Given the description of an element on the screen output the (x, y) to click on. 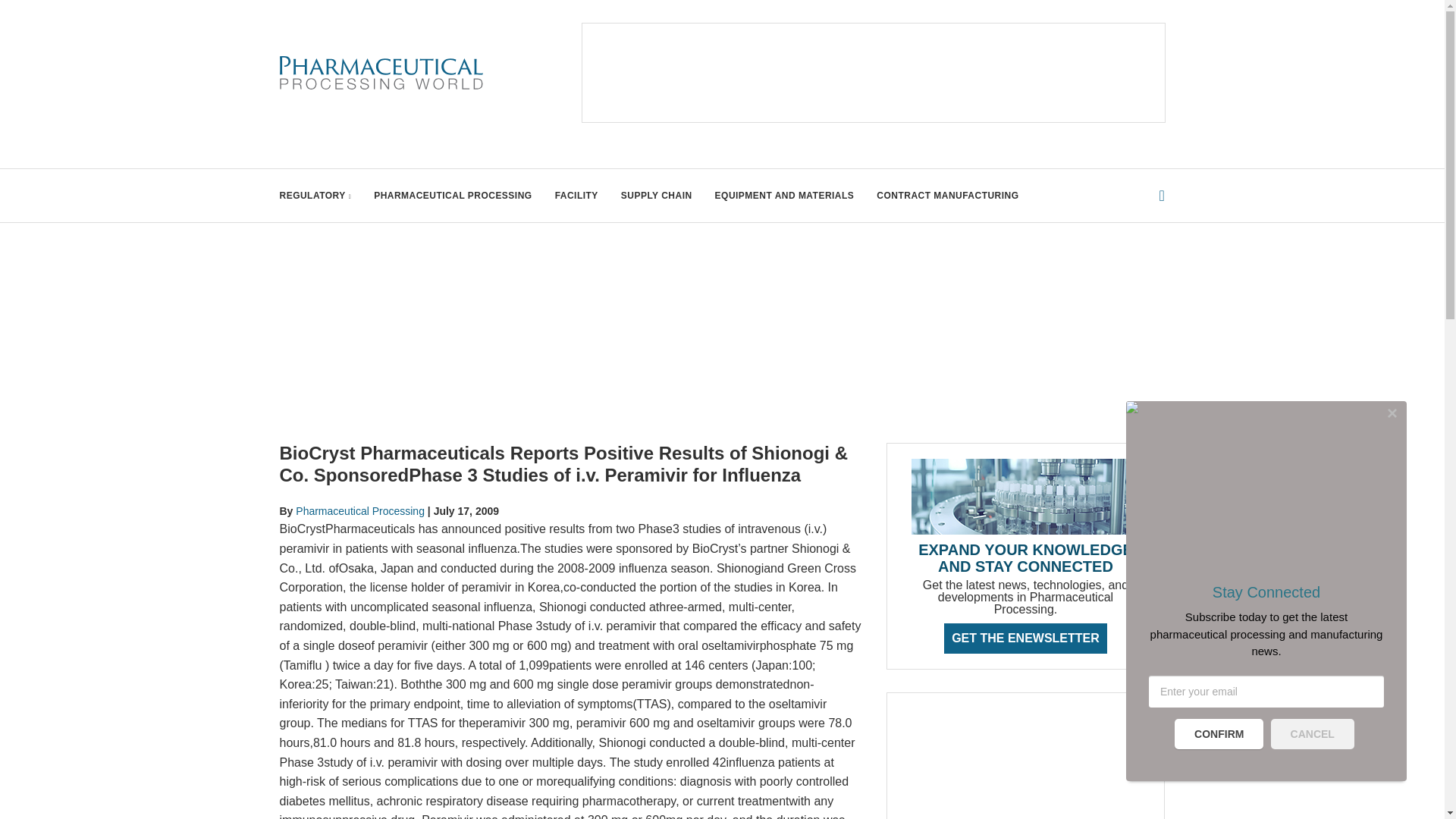
GET THE ENEWSLETTER (1024, 637)
CONTRACT MANUFACTURING (946, 194)
SUPPLY CHAIN (657, 194)
PHARMACEUTICAL PROCESSING (452, 194)
GET THE ENEWSLETTER (1024, 637)
3rd party ad content (1024, 763)
REGULATORY (314, 194)
3rd party ad content (873, 72)
FACILITY (576, 194)
Pharmaceutical Processing (360, 510)
EQUIPMENT AND MATERIALS (784, 194)
Pharmaceutical Processing World (380, 72)
